Given the description of an element on the screen output the (x, y) to click on. 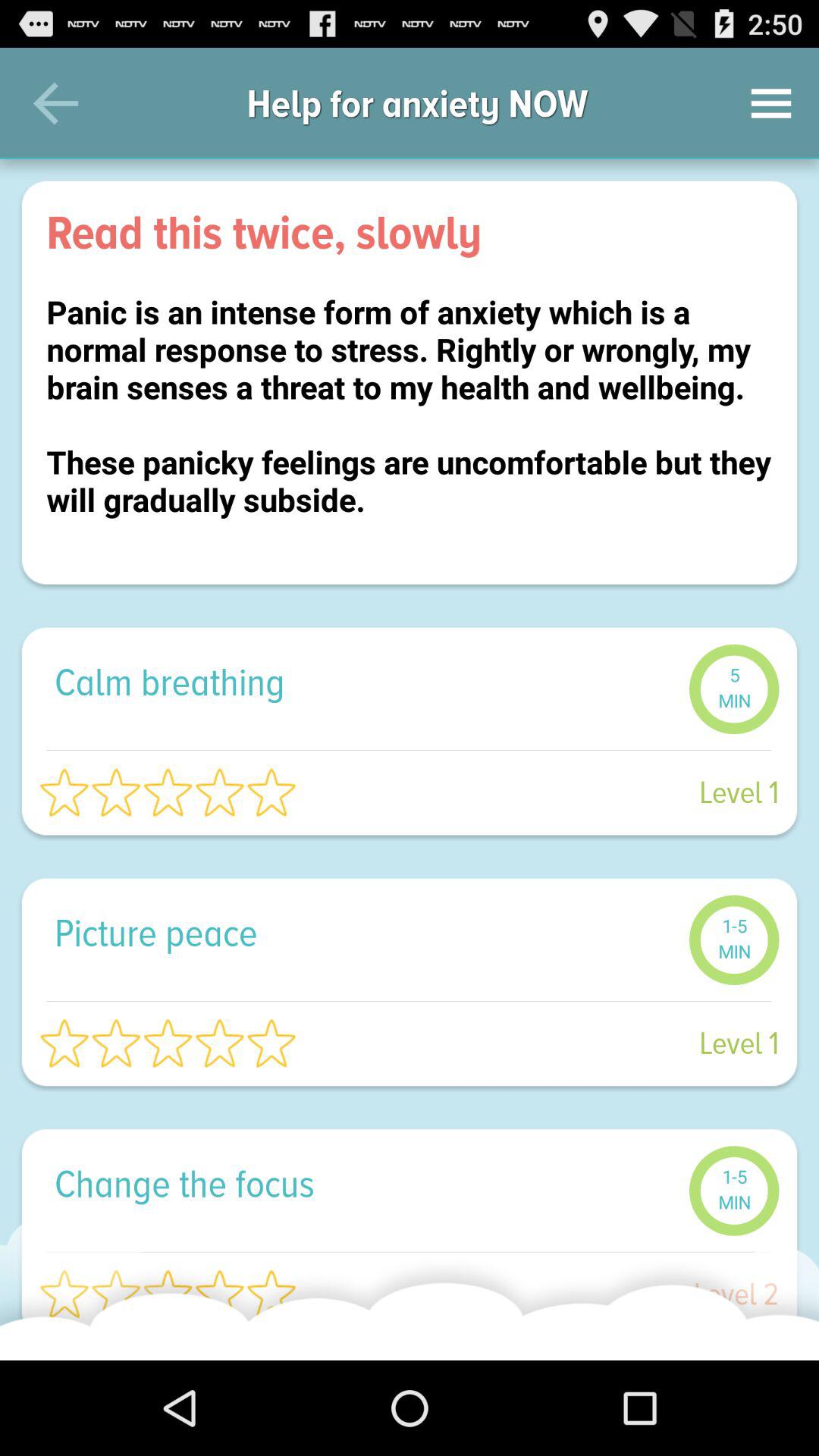
click on menu icon at top right corner (771, 103)
